Given the description of an element on the screen output the (x, y) to click on. 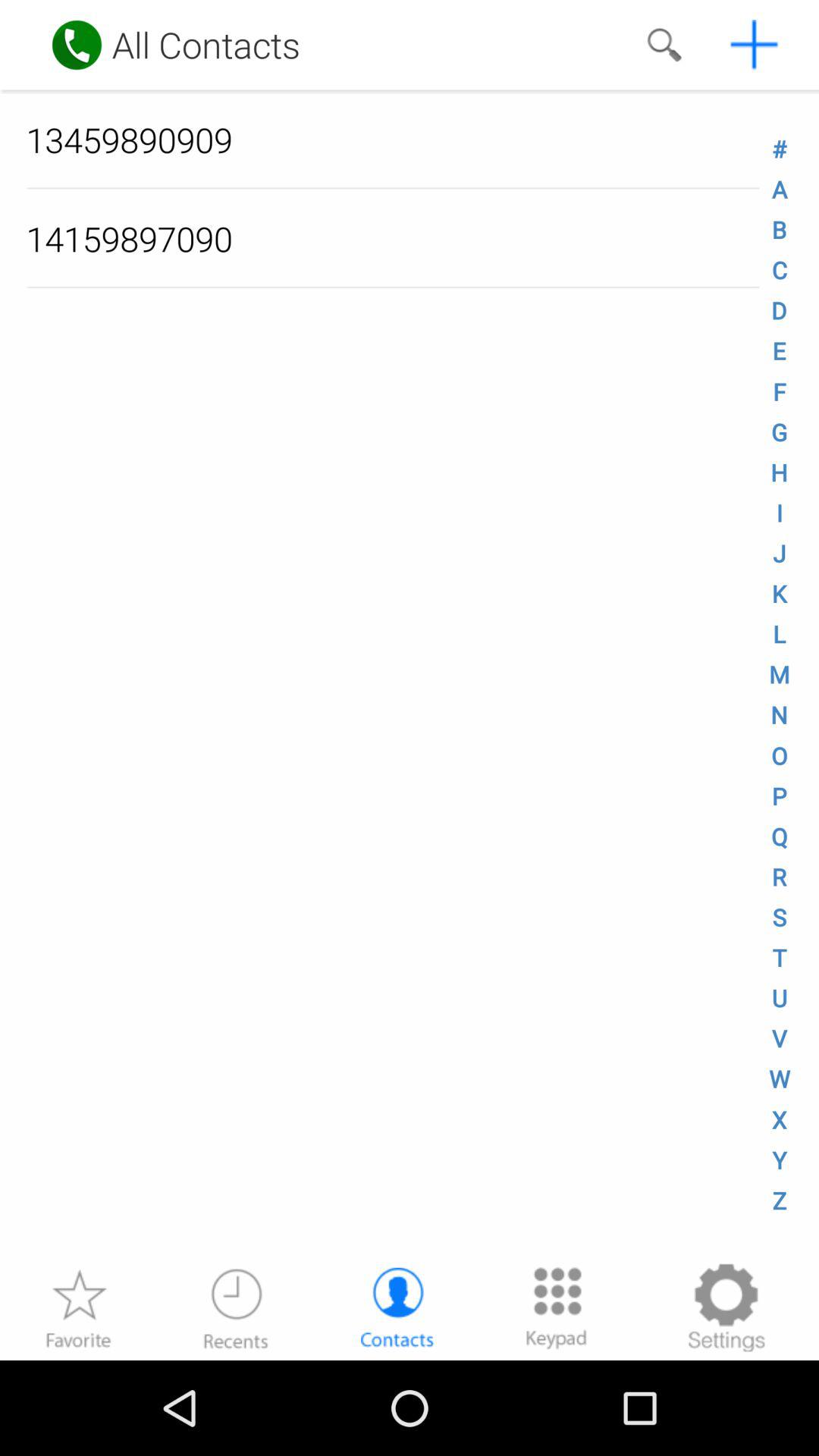
contacts (397, 1307)
